Given the description of an element on the screen output the (x, y) to click on. 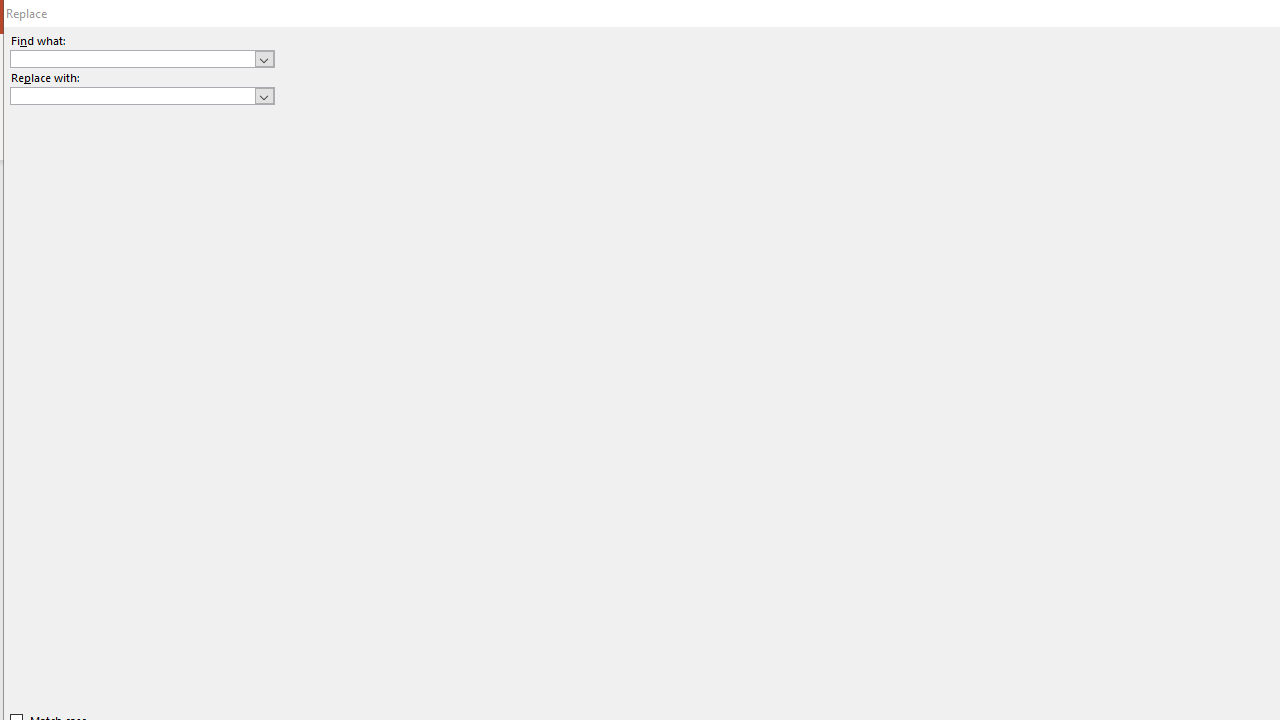
Replace with (142, 96)
